Given the description of an element on the screen output the (x, y) to click on. 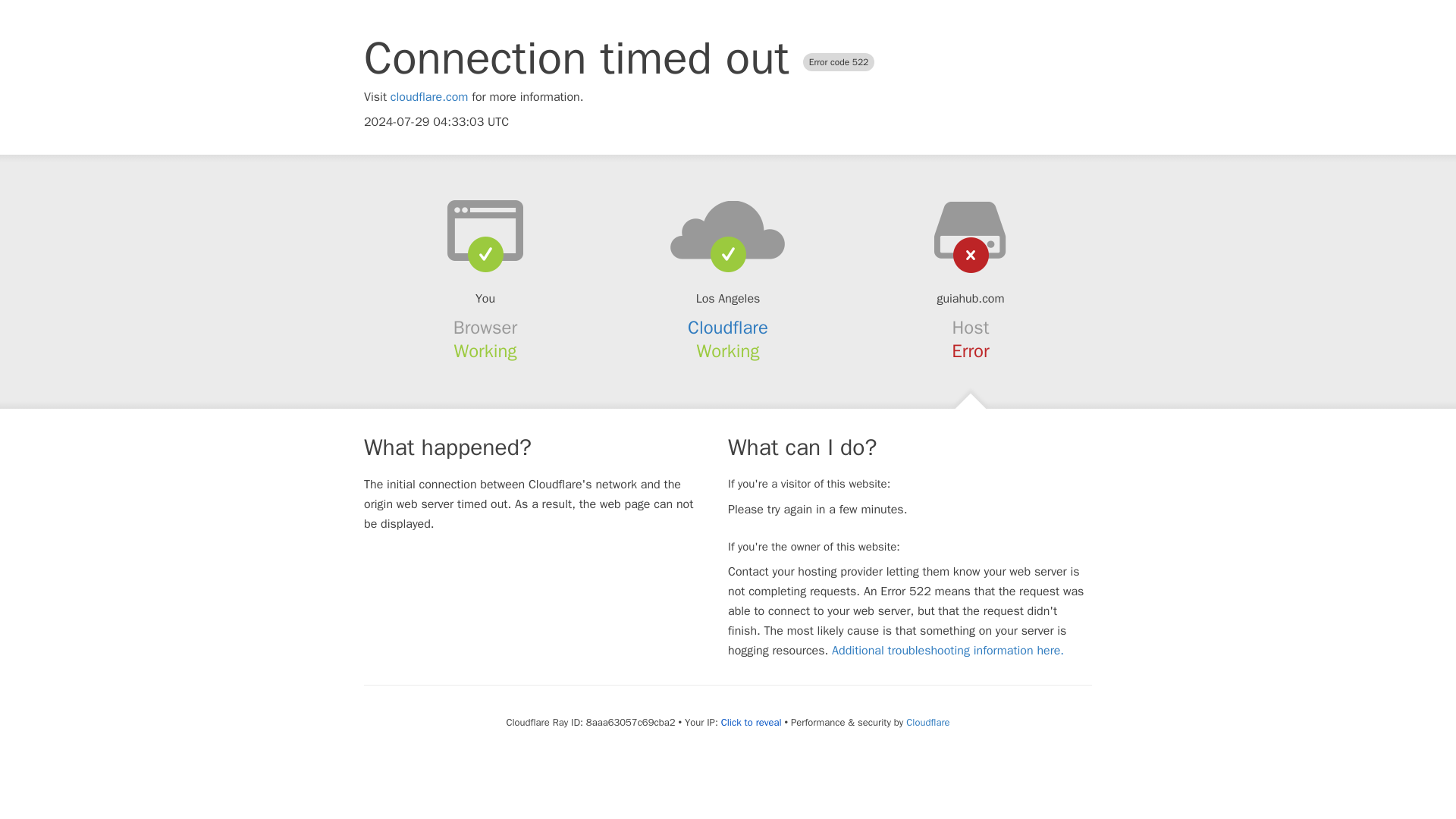
cloudflare.com (429, 96)
Cloudflare (927, 721)
Additional troubleshooting information here. (947, 650)
Cloudflare (727, 327)
Click to reveal (750, 722)
